Given the description of an element on the screen output the (x, y) to click on. 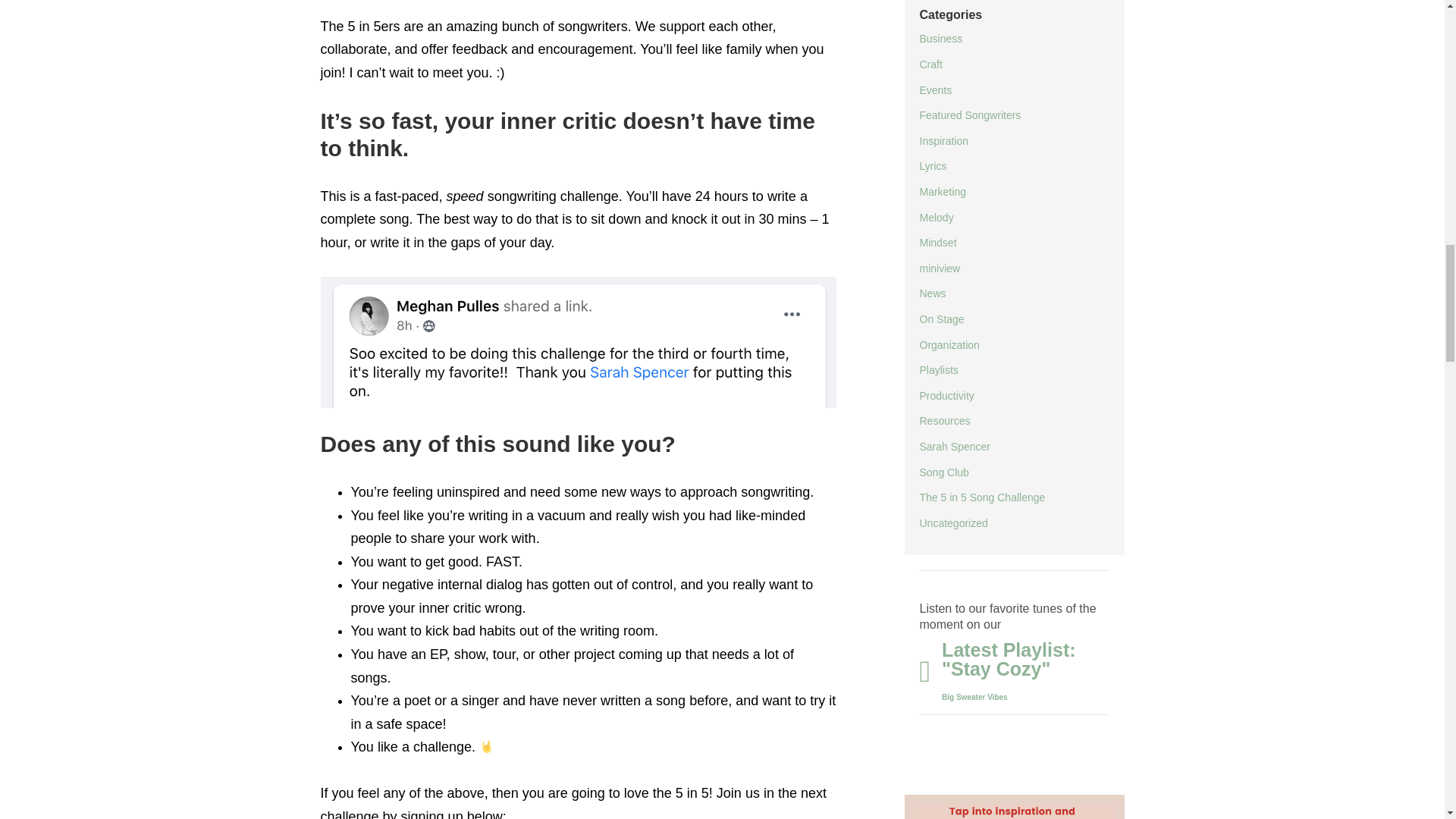
News (931, 293)
Business (940, 38)
miniview (938, 268)
Song-Club-inside (1014, 806)
Featured Songwriters (969, 114)
Marketing (941, 191)
Mindset (937, 242)
Events (935, 90)
Inspiration (943, 141)
Craft (930, 64)
Lyrics (932, 165)
Melody (935, 217)
